Given the description of an element on the screen output the (x, y) to click on. 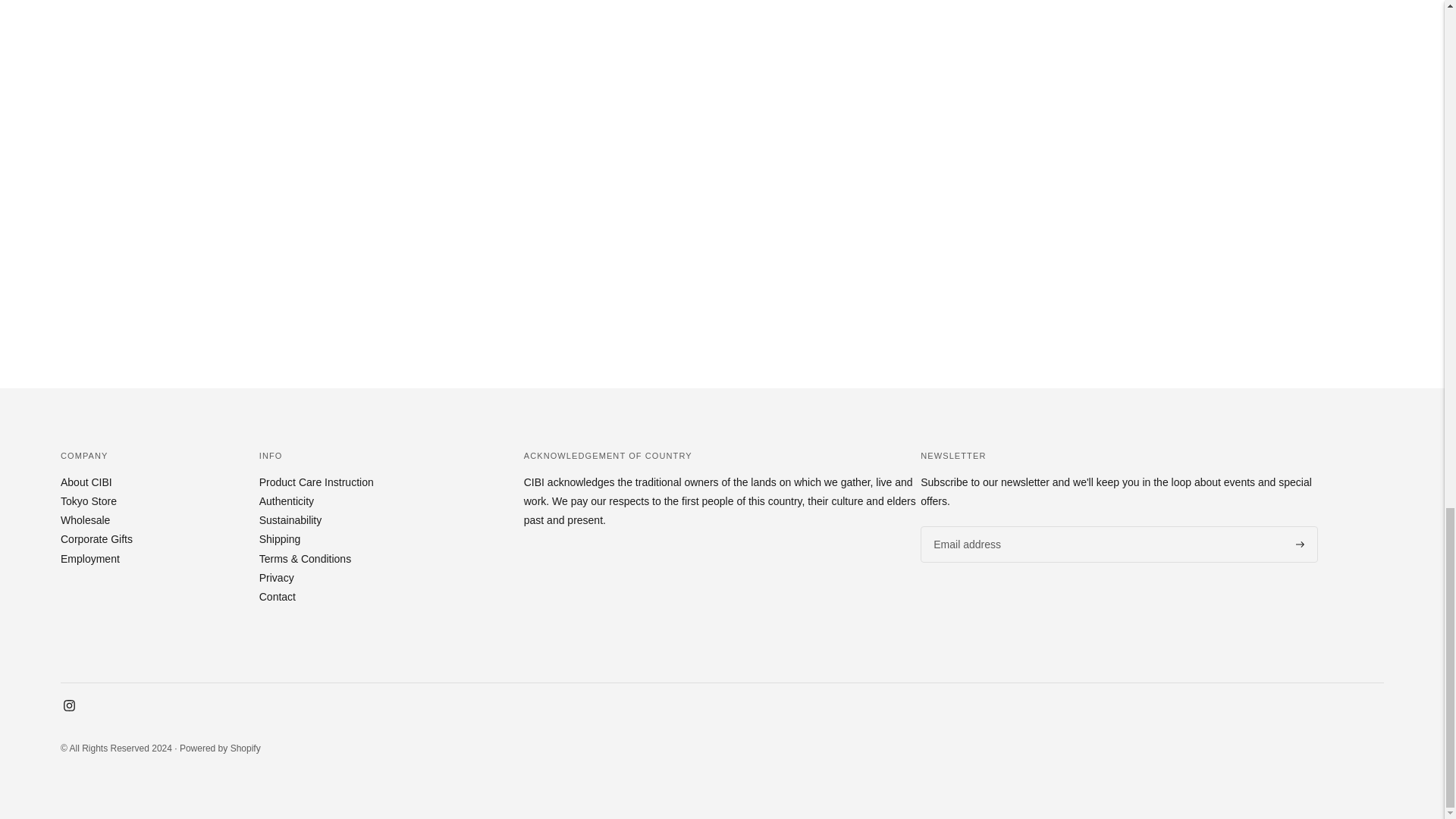
CIBI on Instagram (69, 707)
